Given the description of an element on the screen output the (x, y) to click on. 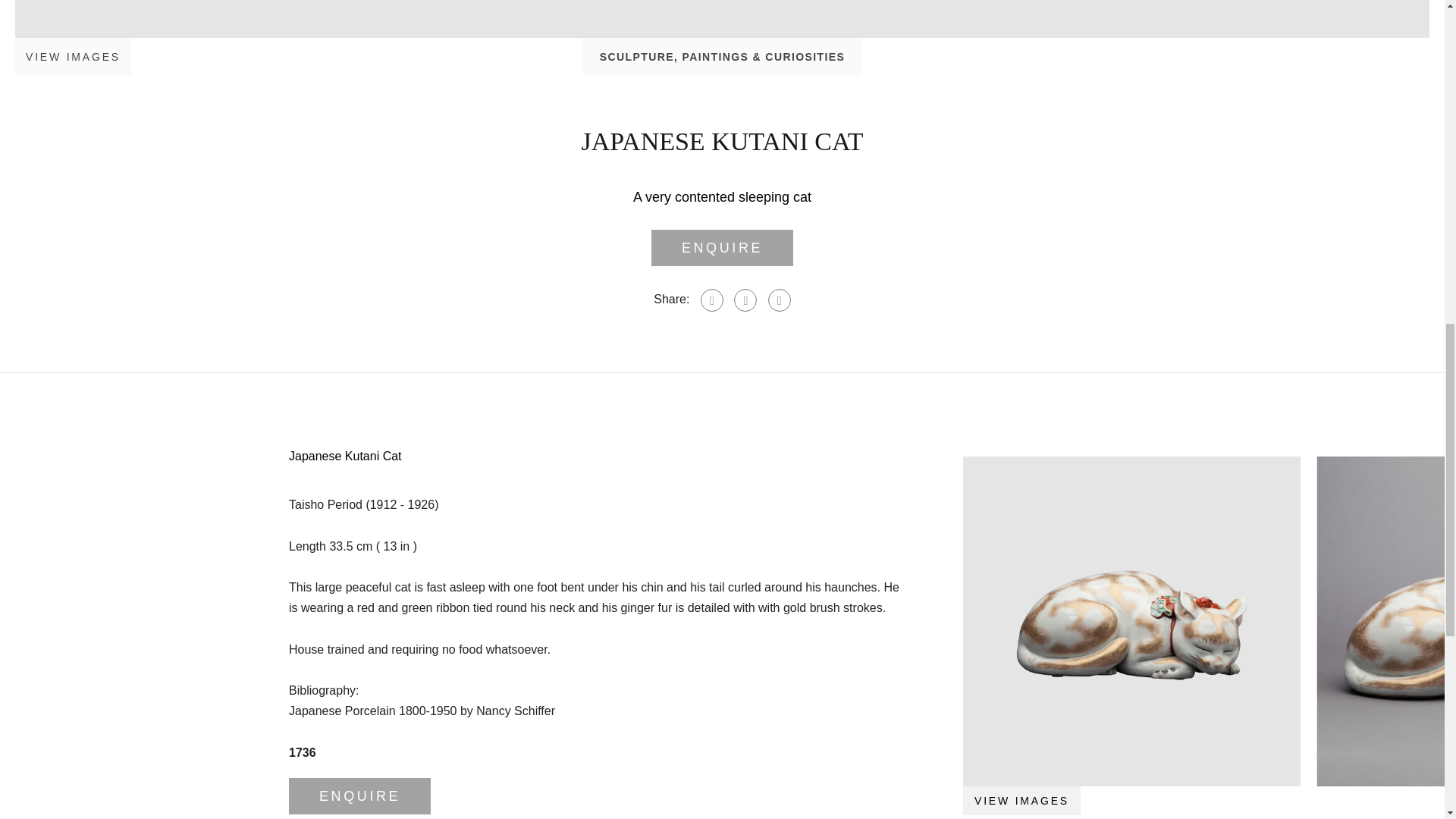
ENQUIRE (359, 796)
ENQUIRE (721, 248)
